Given the description of an element on the screen output the (x, y) to click on. 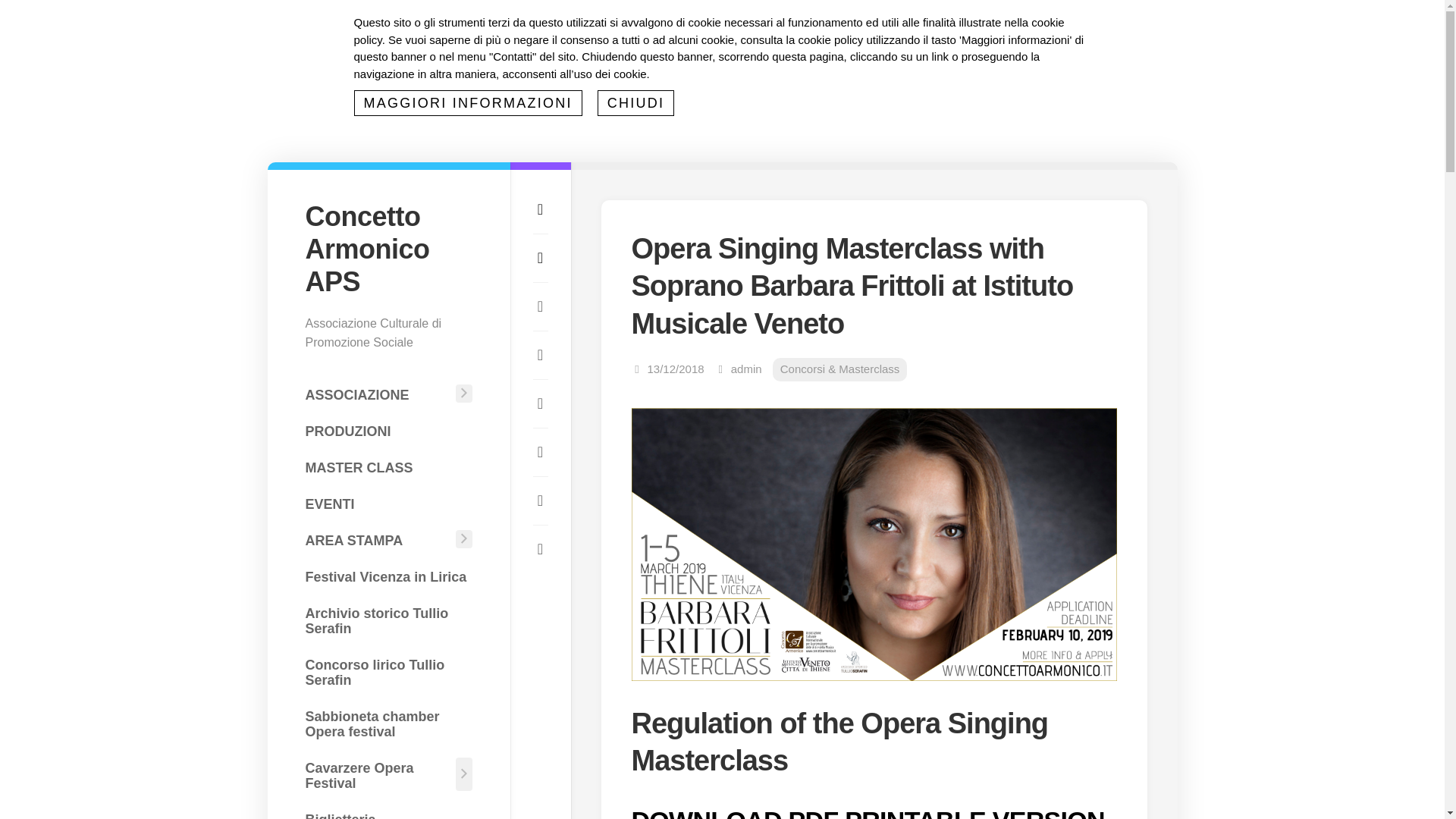
Festival Vicenza in Lirica (387, 576)
Articoli scritti da admin (745, 368)
ASSOCIAZIONE (376, 395)
Biglietteria (387, 811)
Cavarzere Opera Festival (376, 775)
Concorso lirico Tullio Serafin (387, 672)
MASTER CLASS (387, 467)
Archivio storico Tullio Serafin (387, 620)
PRODUZIONI (387, 431)
EVENTI (387, 503)
